Given the description of an element on the screen output the (x, y) to click on. 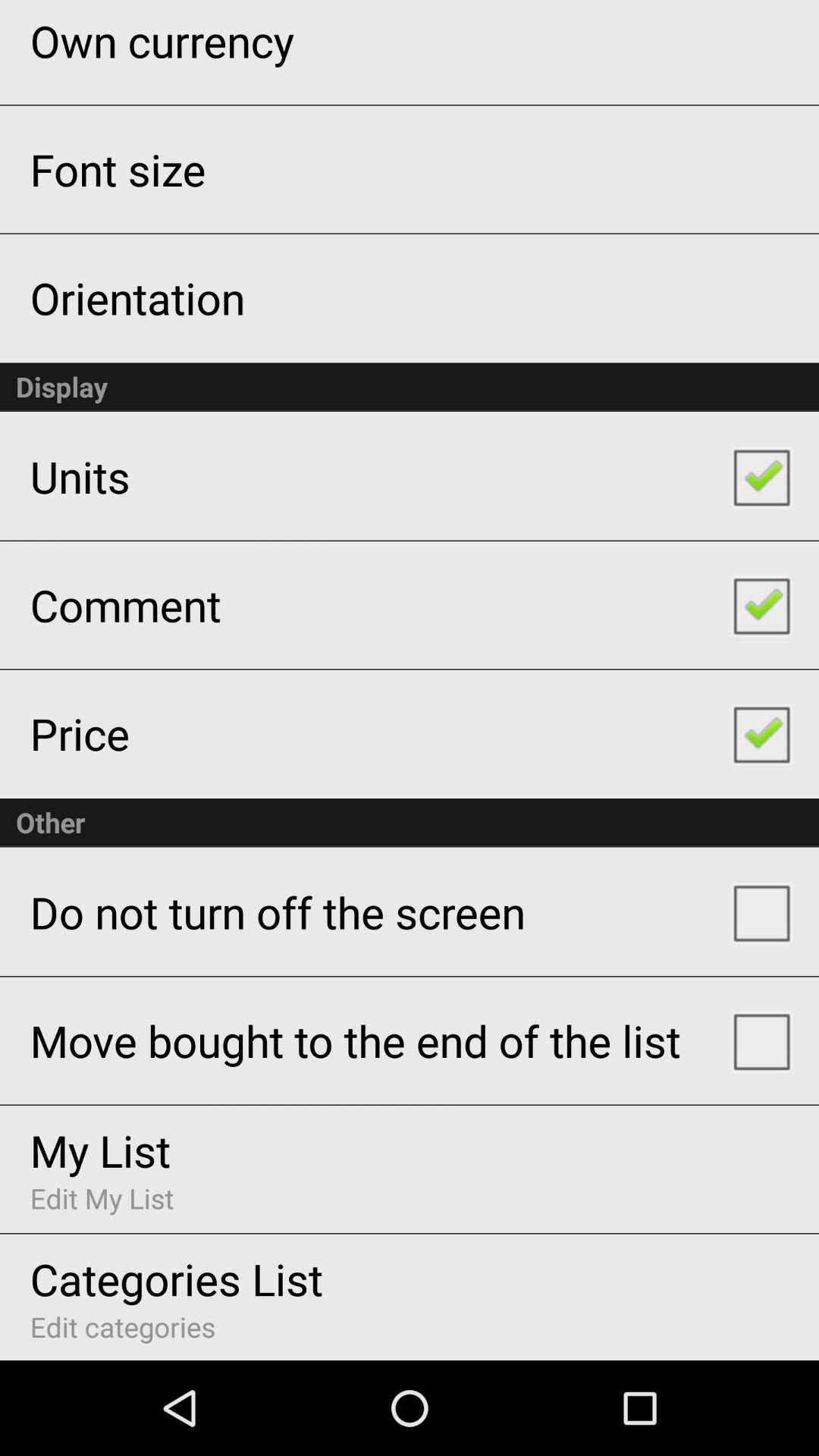
scroll to the price (79, 733)
